Given the description of an element on the screen output the (x, y) to click on. 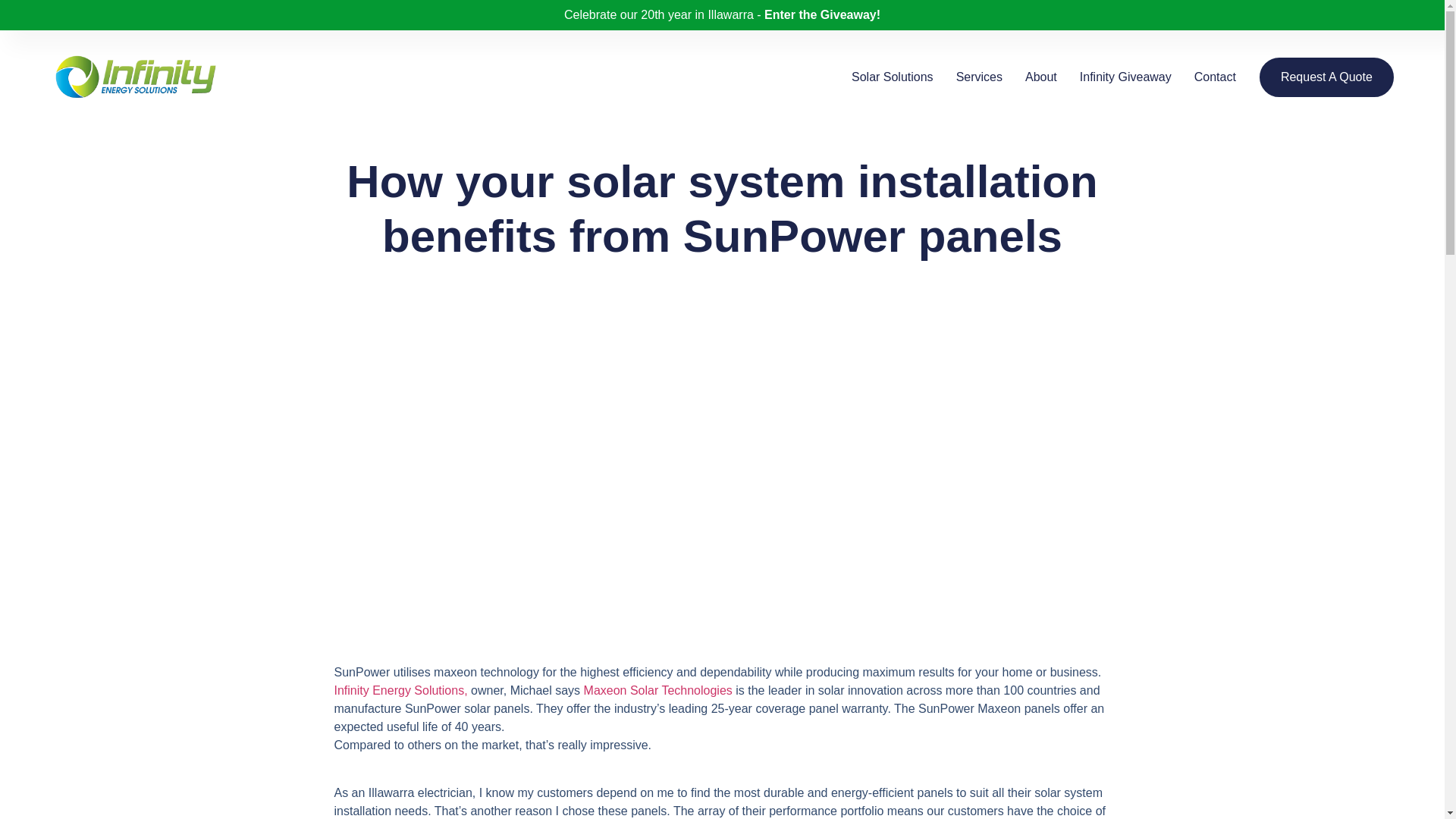
About (1041, 76)
Solar Solutions (892, 76)
Request A Quote (1326, 77)
Celebrate our 20th year in Illawarra - Enter the Giveaway! (722, 14)
Services (979, 76)
Maxeon Solar Technologies (657, 689)
Infinity Giveaway (1126, 76)
Contact (1214, 76)
Infinity Energy Solutions, (400, 689)
